Given the description of an element on the screen output the (x, y) to click on. 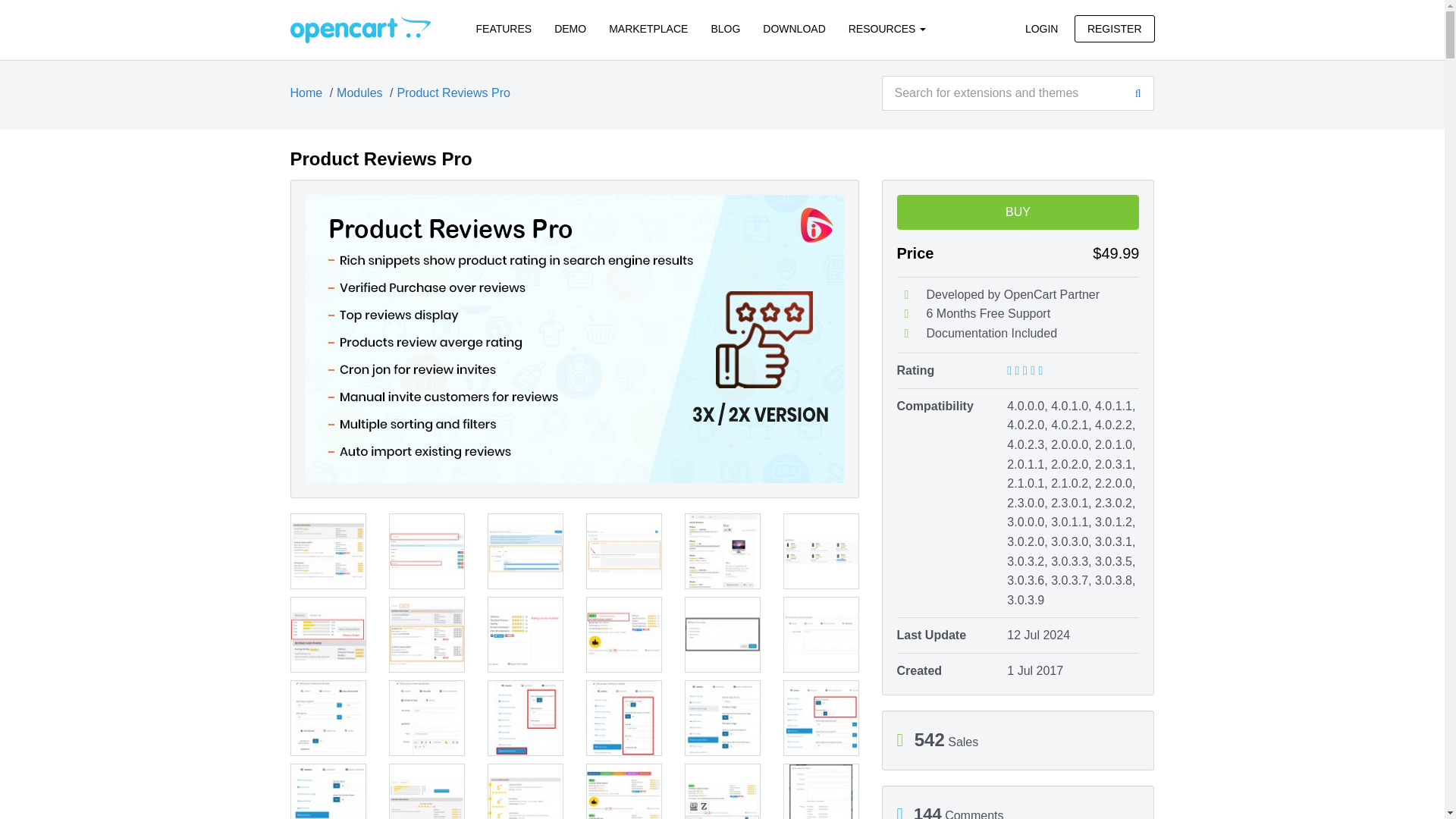
REGISTER (1114, 28)
BLOG (724, 28)
DOWNLOAD (793, 28)
RESOURCES (887, 28)
FEATURES (503, 28)
Home (305, 92)
LOGIN (1041, 28)
MARKETPLACE (647, 28)
DEMO (569, 28)
Product Reviews Pro (452, 92)
Modules (358, 92)
OpenCart - Product Reviews Pro (359, 29)
